Given the description of an element on the screen output the (x, y) to click on. 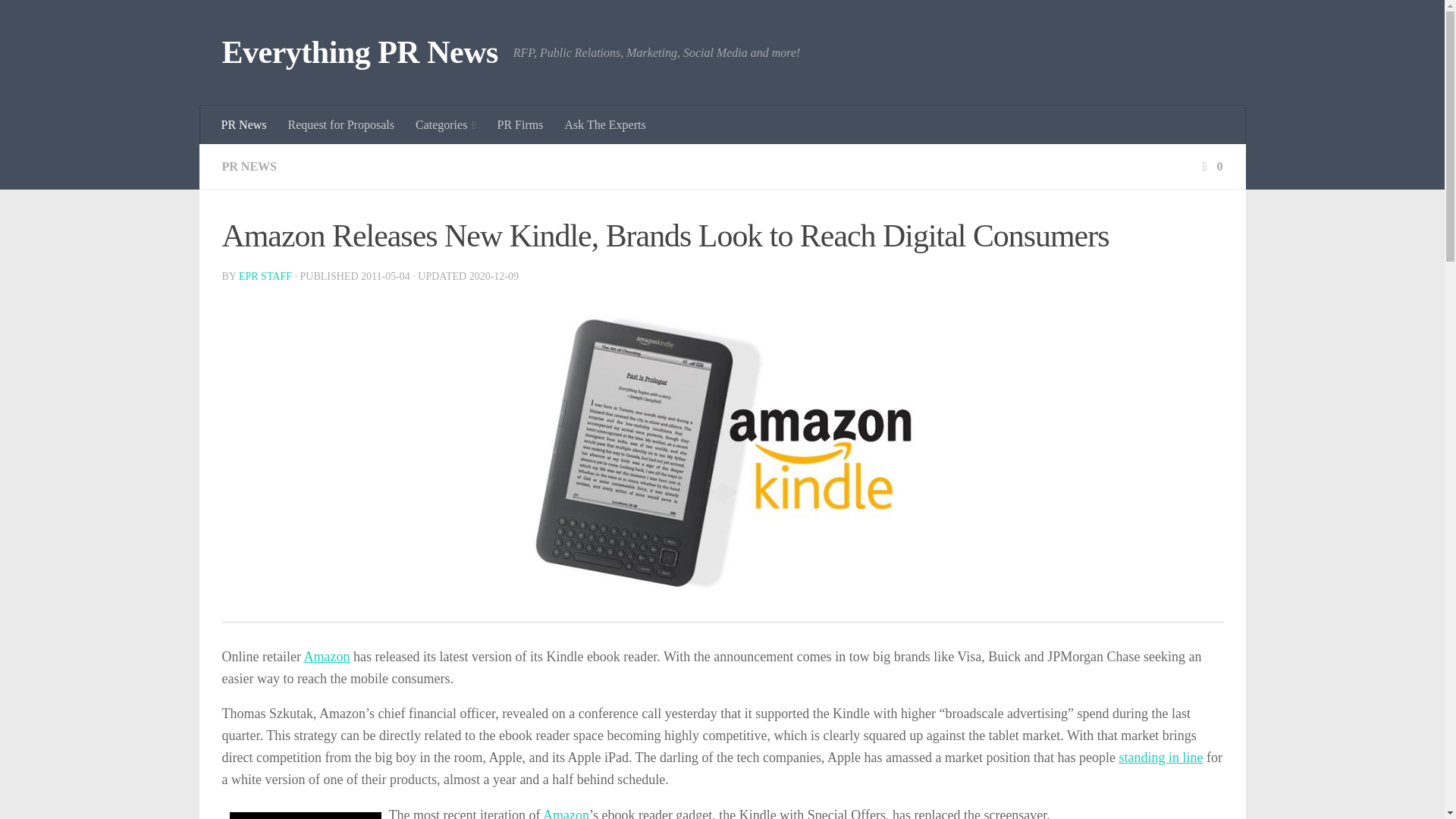
Amazon Kindle everything-pr (722, 454)
Request for Proposals (341, 125)
Everything PR News (359, 53)
Posts by EPR Staff (265, 276)
Categories (445, 125)
screensaver (304, 815)
PR News (244, 125)
Skip to content (59, 20)
